Given the description of an element on the screen output the (x, y) to click on. 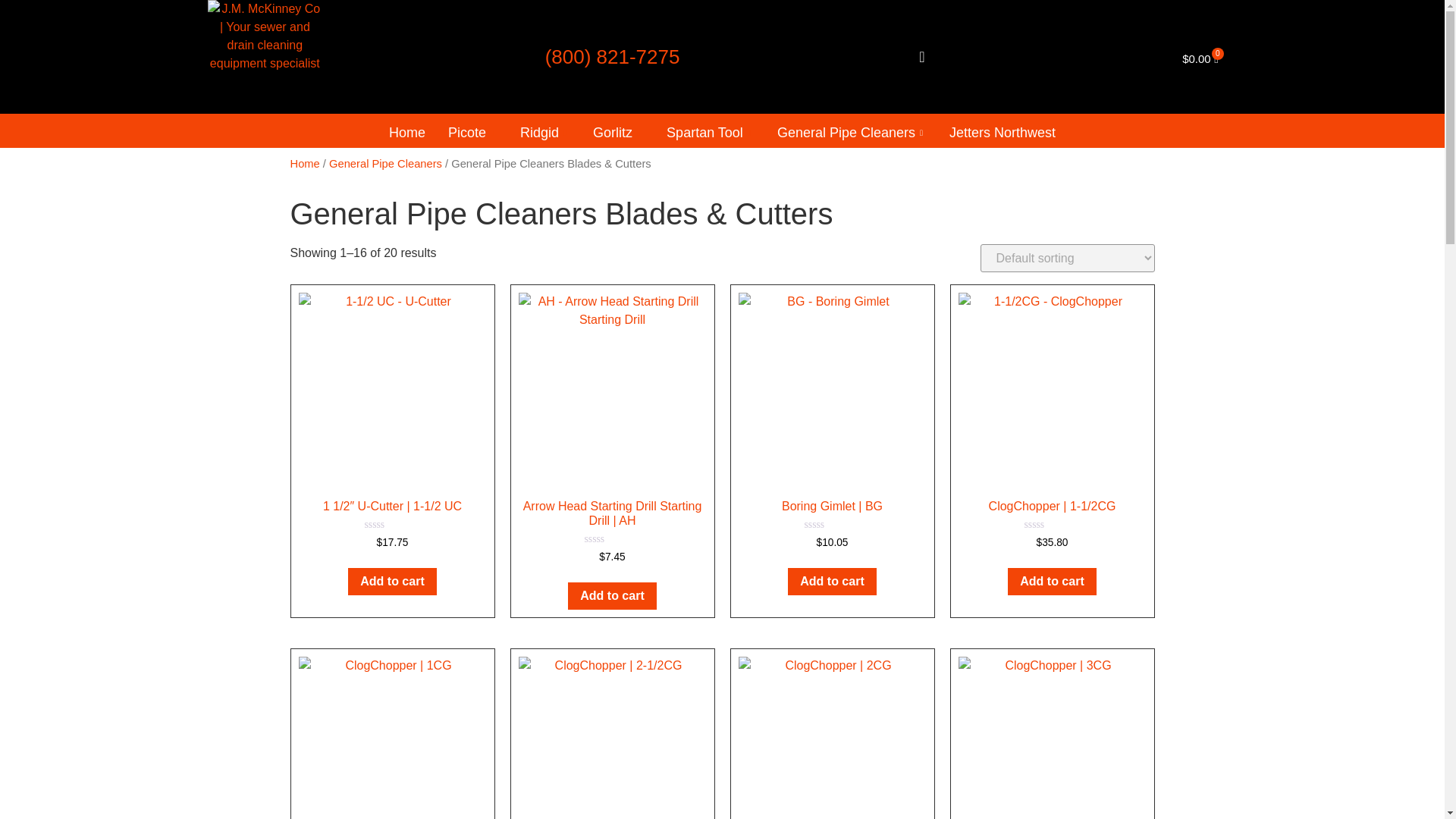
Home (406, 132)
General Pipe Cleaners (851, 132)
Spartan Tool (710, 132)
Ridgid (544, 132)
Picote (472, 132)
Gorlitz (617, 132)
